Given the description of an element on the screen output the (x, y) to click on. 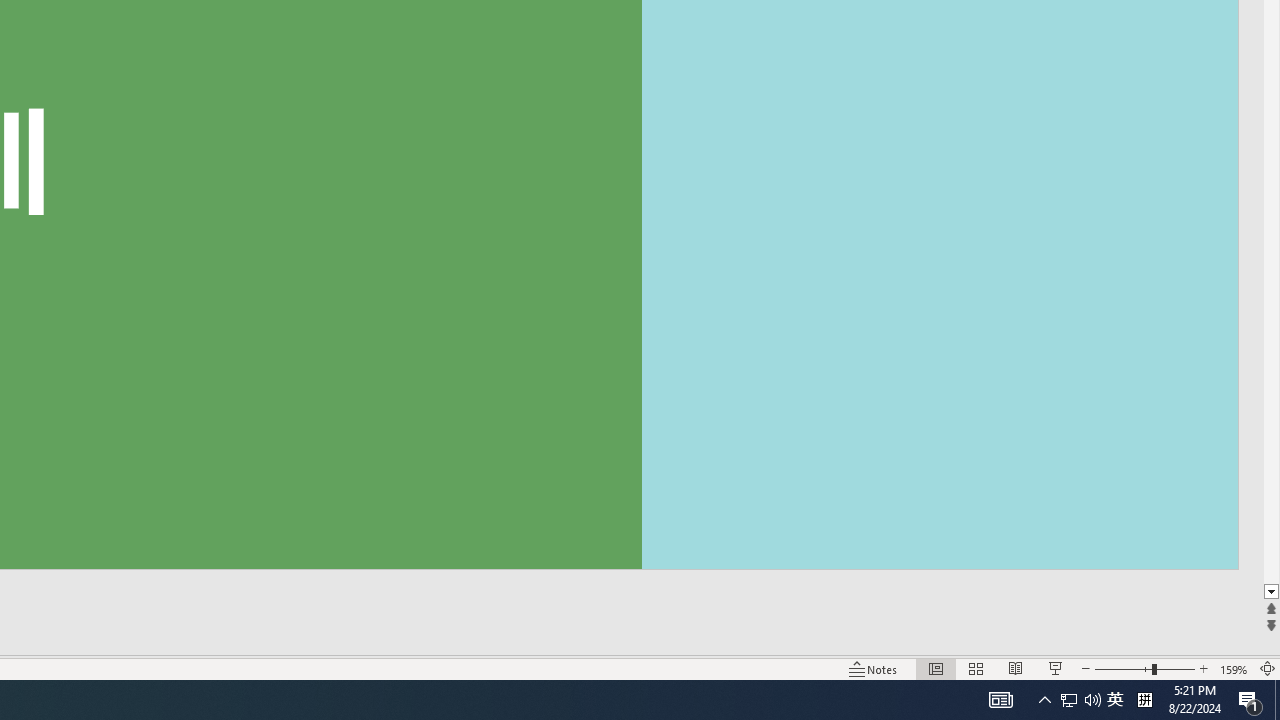
Zoom 159% (1234, 668)
Action Center, 1 new notification (1250, 699)
